Given the description of an element on the screen output the (x, y) to click on. 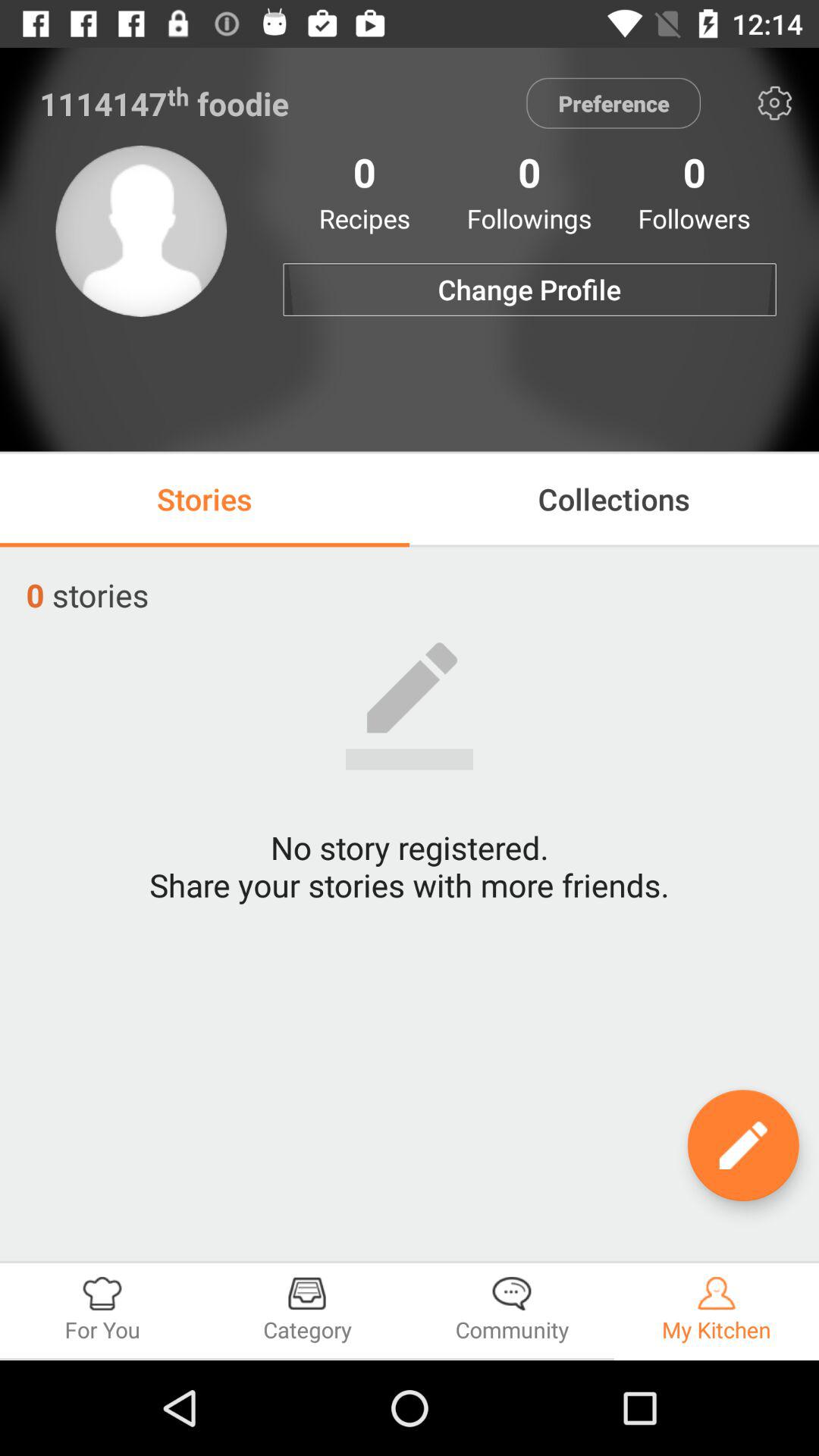
settings (774, 103)
